Given the description of an element on the screen output the (x, y) to click on. 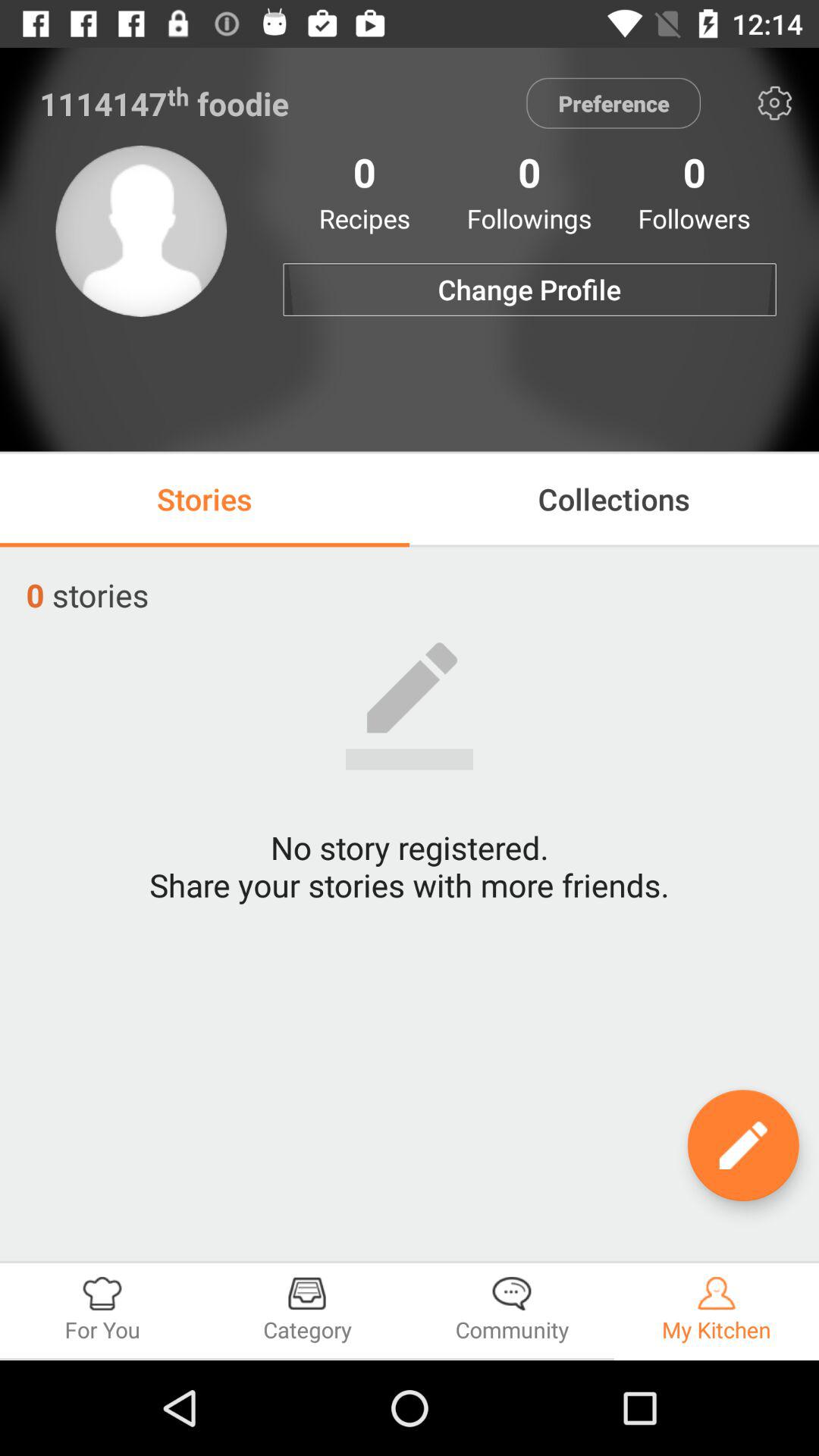
settings (774, 103)
